Given the description of an element on the screen output the (x, y) to click on. 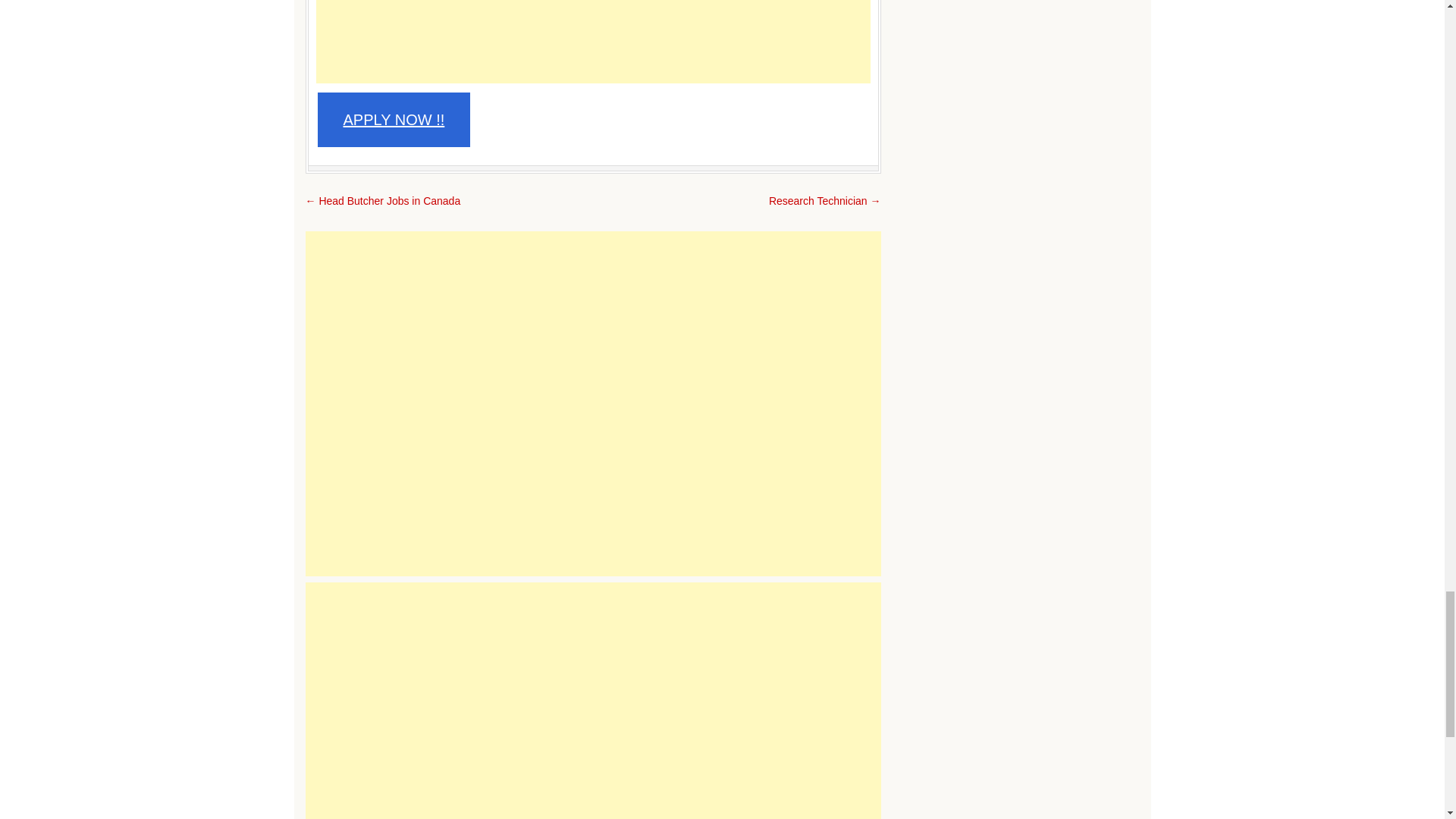
APPLY NOW !! (393, 119)
